Given the description of an element on the screen output the (x, y) to click on. 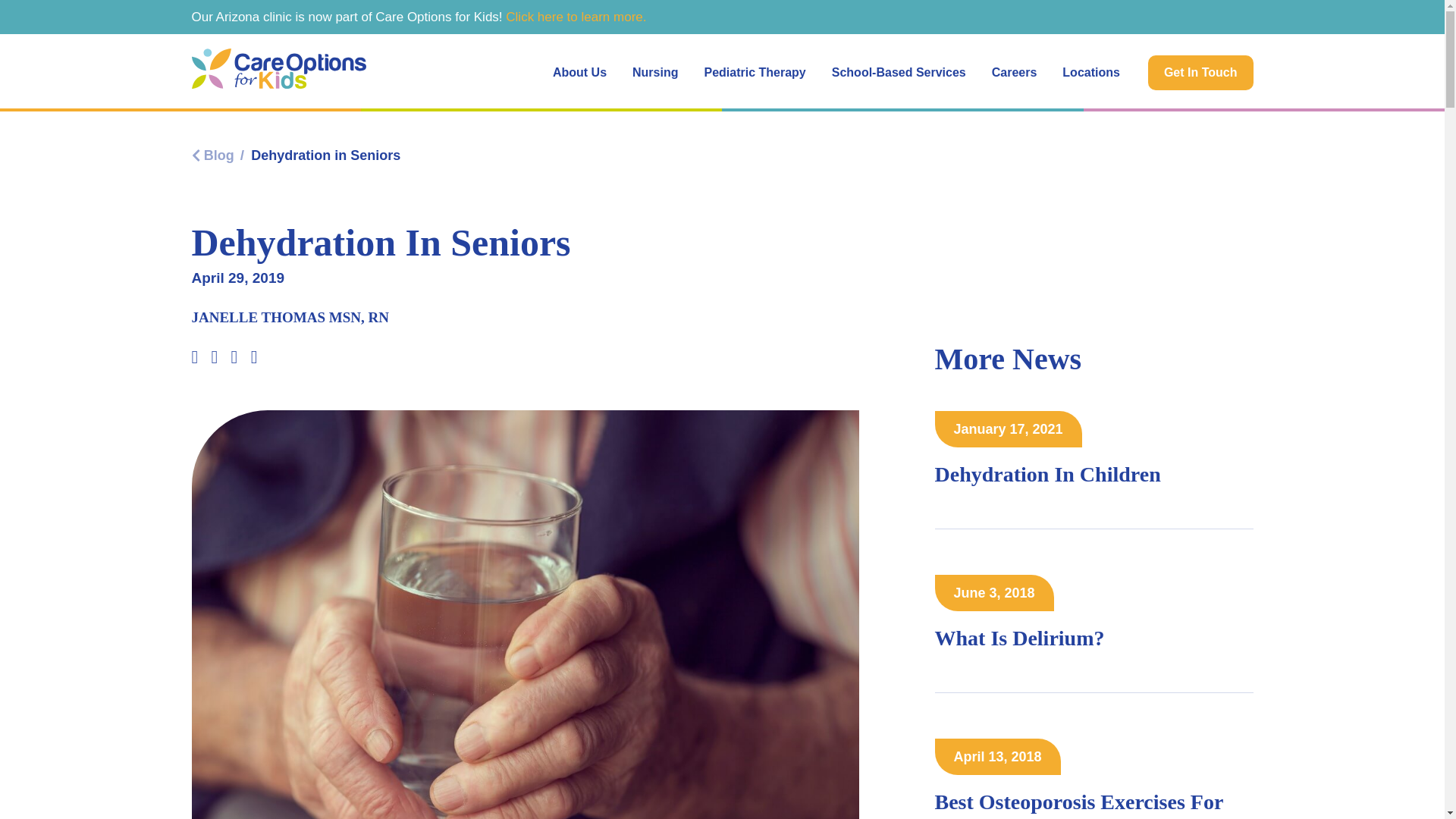
School-Based Services (898, 72)
Nursing (655, 72)
Pediatric Therapy (754, 72)
Locations (1090, 72)
About Us (580, 72)
Click here to learn more. (575, 16)
Careers (1013, 72)
